Given the description of an element on the screen output the (x, y) to click on. 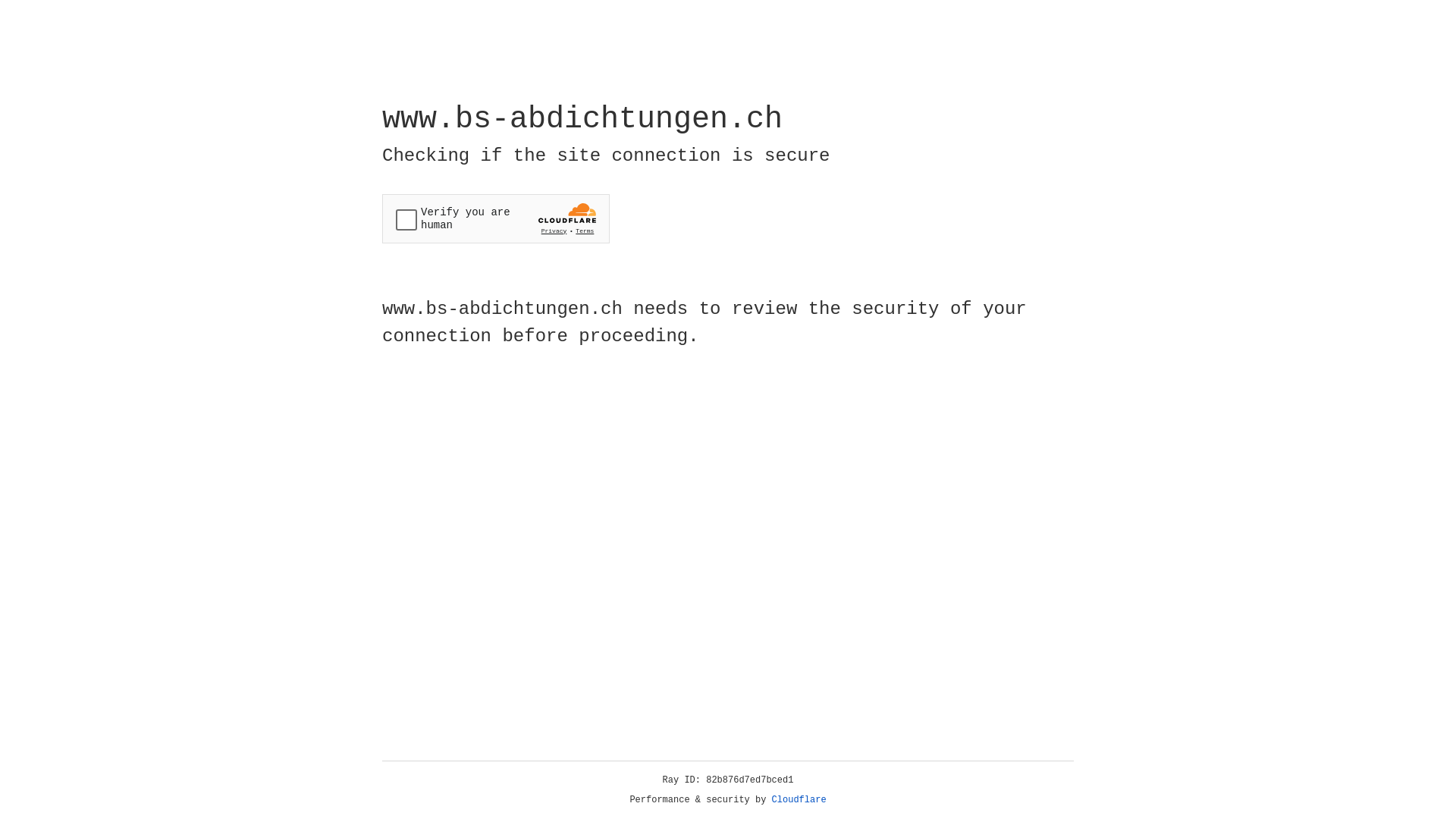
Widget containing a Cloudflare security challenge Element type: hover (495, 218)
Cloudflare Element type: text (798, 799)
